Given the description of an element on the screen output the (x, y) to click on. 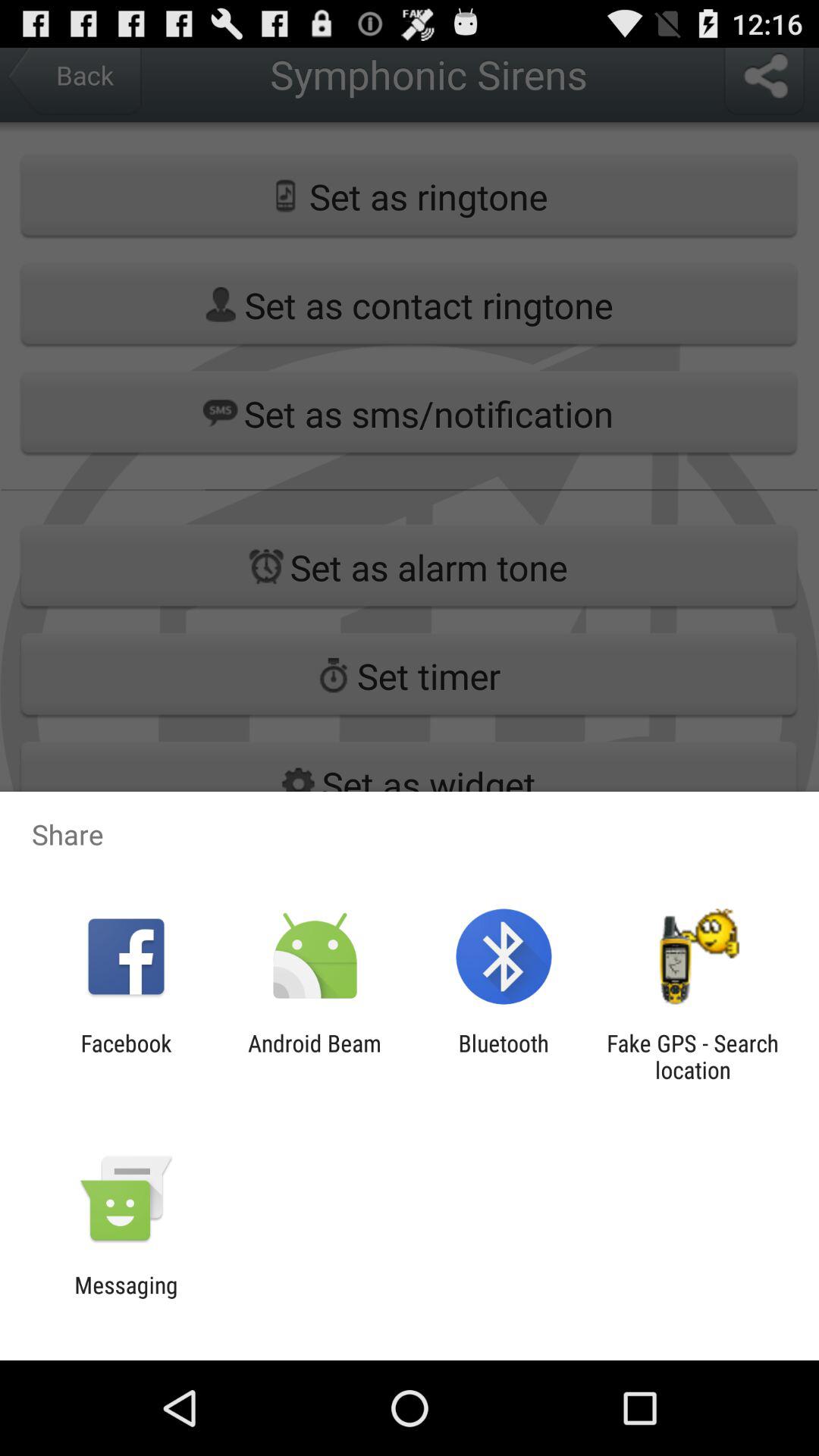
jump until the messaging app (126, 1298)
